Given the description of an element on the screen output the (x, y) to click on. 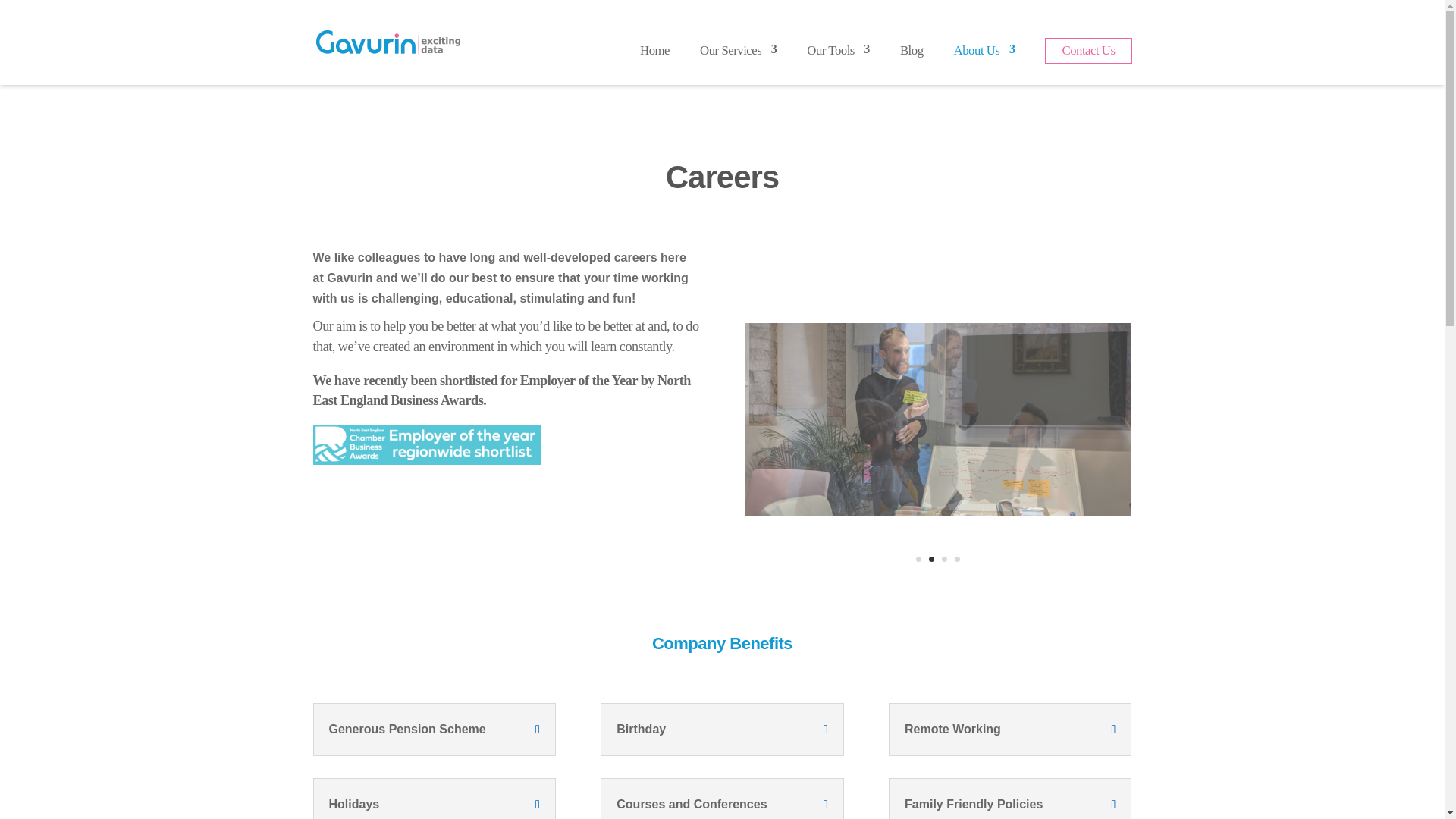
About Us (983, 50)
Contact Us (1088, 50)
Our Tools (837, 50)
Blog (911, 50)
Our Services (738, 50)
Home (654, 50)
